Given the description of an element on the screen output the (x, y) to click on. 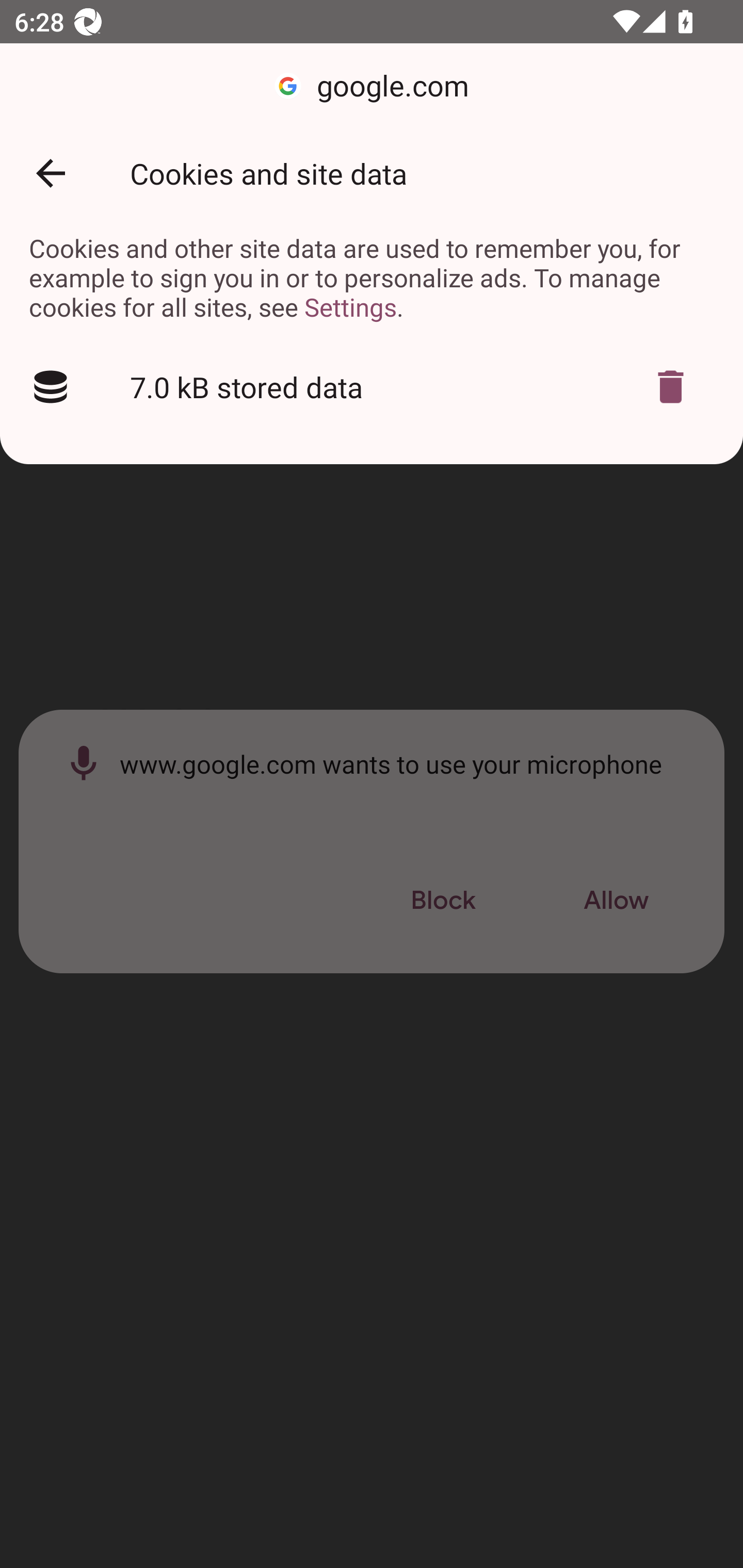
google.com (371, 86)
Back (50, 173)
7.0 kB stored data Delete cookies? (371, 386)
